Given the description of an element on the screen output the (x, y) to click on. 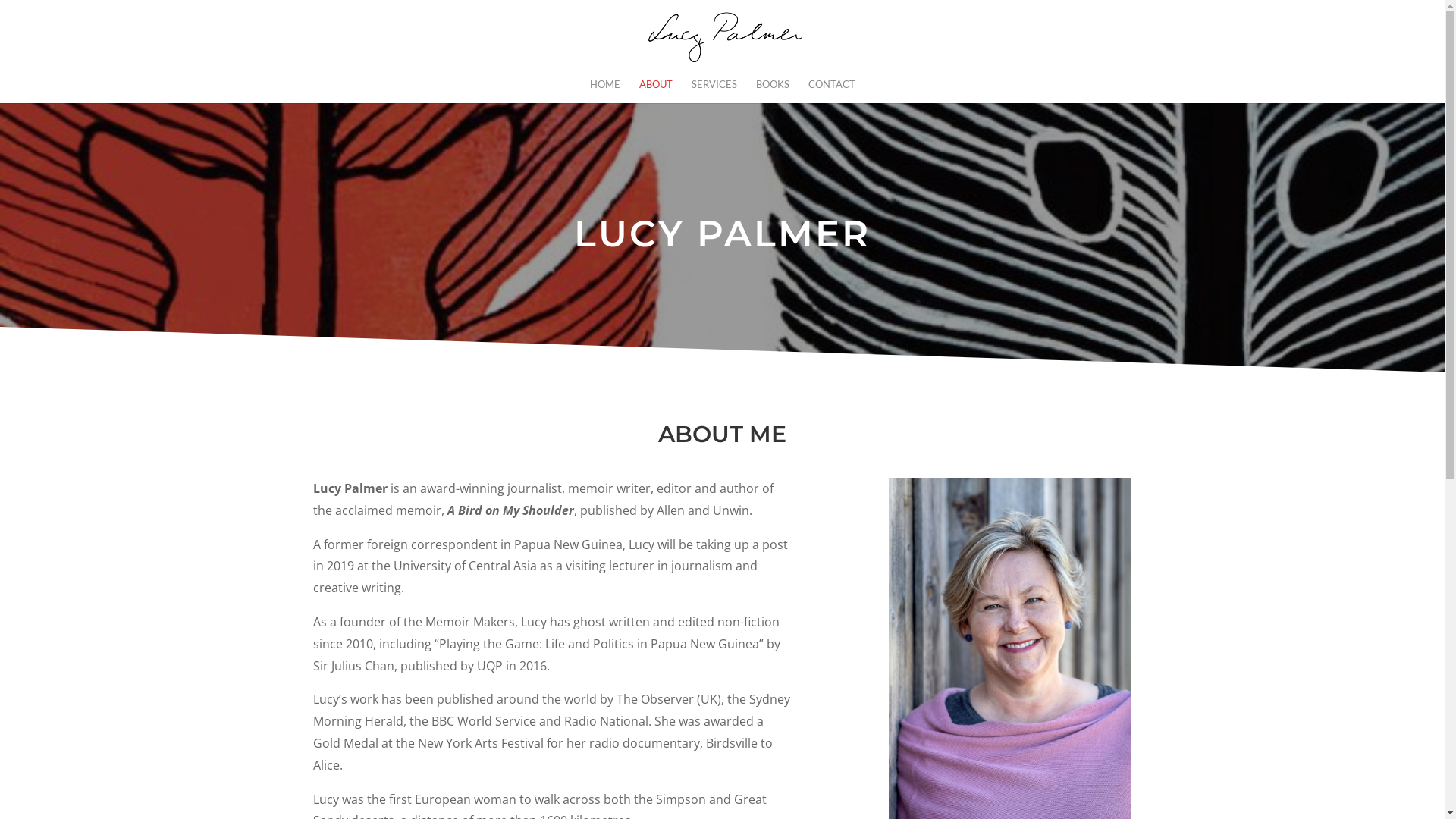
HOME Element type: text (604, 90)
BOOKS Element type: text (771, 90)
CONTACT Element type: text (831, 90)
ABOUT Element type: text (654, 90)
SERVICES Element type: text (714, 90)
